Given the description of an element on the screen output the (x, y) to click on. 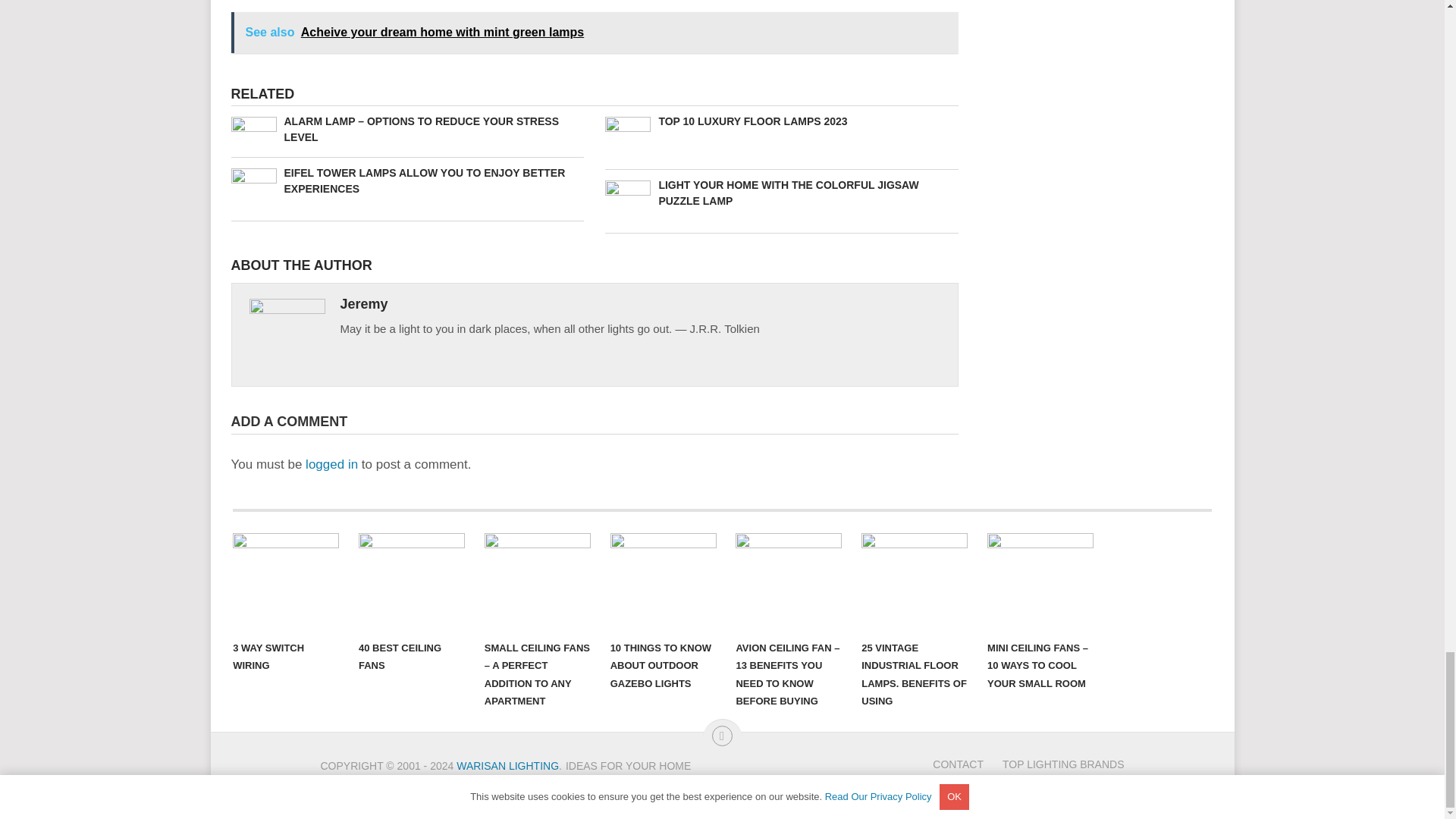
WARISAN LIGHTING (508, 766)
Light your home with the colorful Jigsaw puzzle lamp (781, 193)
10 THINGS TO KNOW ABOUT OUTDOOR GAZEBO LIGHTS (663, 582)
25 VINTAGE INDUSTRIAL FLOOR LAMPS. BENEFITS OF USING (914, 582)
Eifel tower lamps allow you to enjoy better experiences (406, 181)
40 BEST CEILING FANS (411, 582)
DISCLAMER (596, 784)
EIFEL TOWER LAMPS ALLOW YOU TO ENJOY BETTER EXPERIENCES (406, 181)
40 Best Ceiling Fans (411, 582)
10 things to know about Outdoor Gazebo Lights (663, 582)
